Given the description of an element on the screen output the (x, y) to click on. 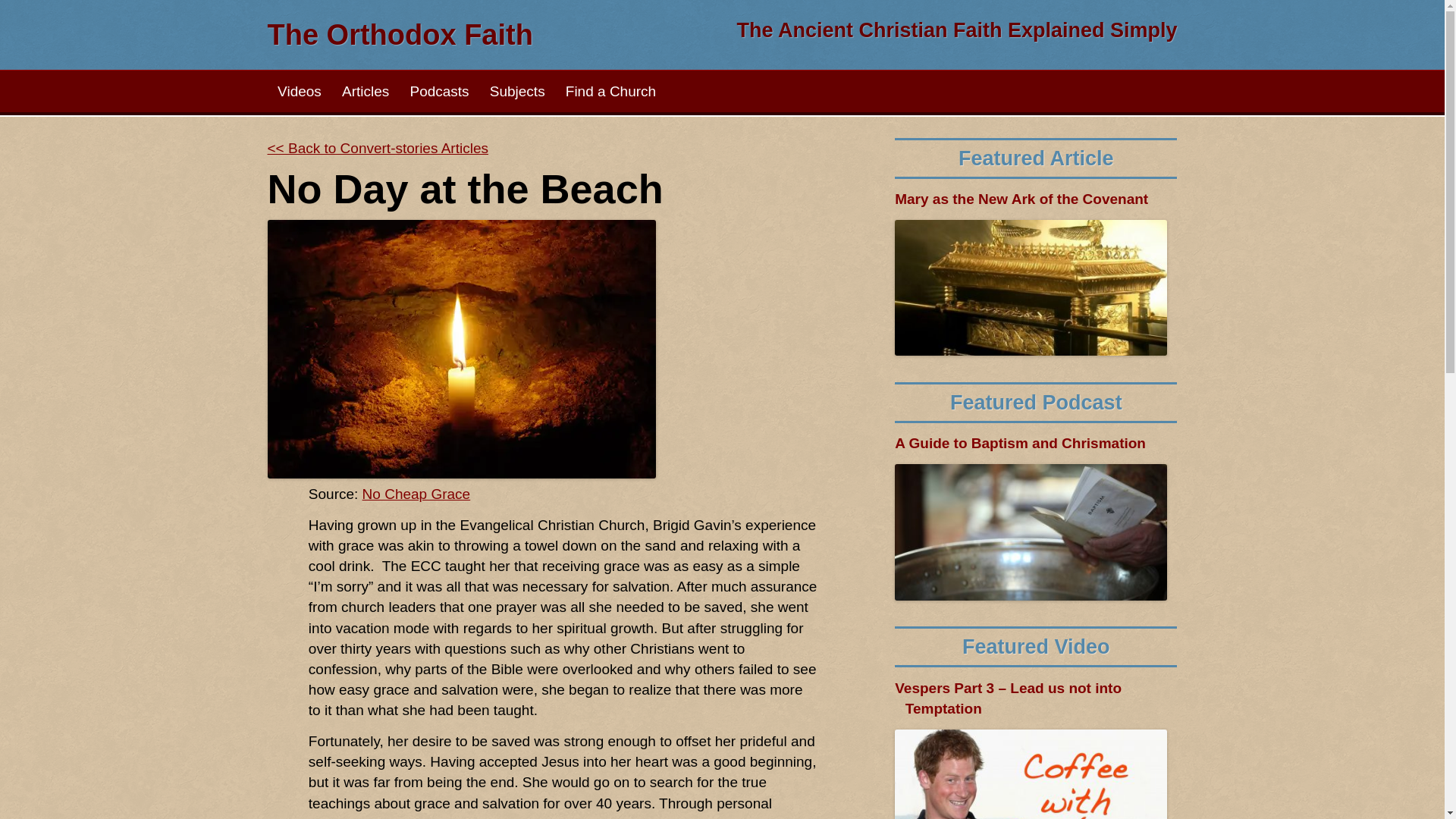
Podcasts (438, 91)
Find a Church (610, 91)
Subjects (516, 91)
Articles (364, 91)
Videos (298, 91)
Mary as the New Ark of the Covenant (1035, 199)
No Cheap Grace (416, 494)
A Guide to Baptism and Chrismation (1035, 443)
A Guide to Baptism and Chrismation (1035, 443)
Mary as the New Ark of the Covenant (1035, 199)
The Orthodox Faith (399, 34)
